Given the description of an element on the screen output the (x, y) to click on. 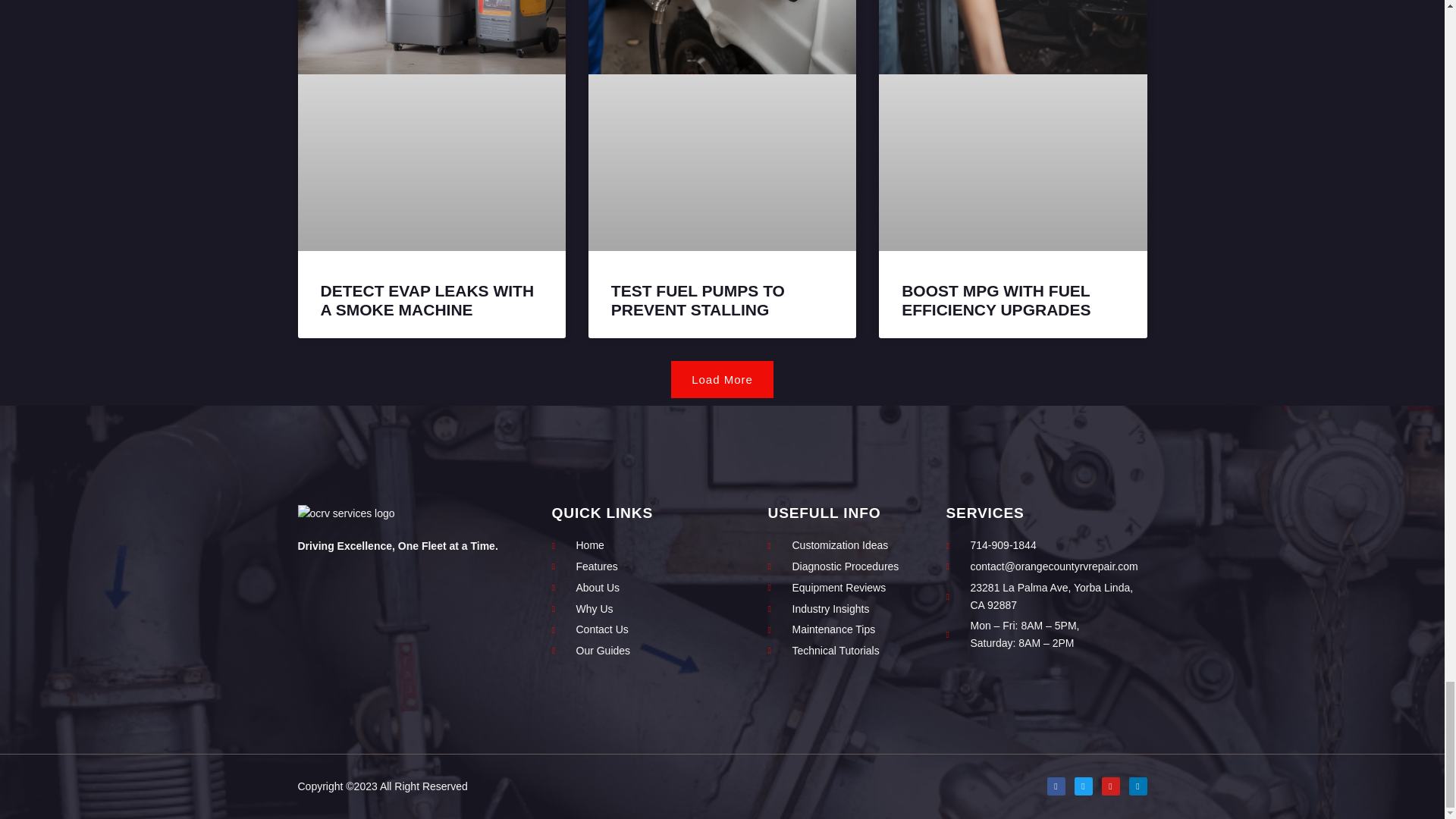
BOOST MPG WITH FUEL EFFICIENCY UPGRADES (995, 299)
About Us (632, 588)
Home (632, 545)
DETECT EVAP LEAKS WITH A SMOKE MACHINE (427, 299)
Load More (722, 379)
Features (632, 566)
TEST FUEL PUMPS TO PREVENT STALLING (697, 299)
